Given the description of an element on the screen output the (x, y) to click on. 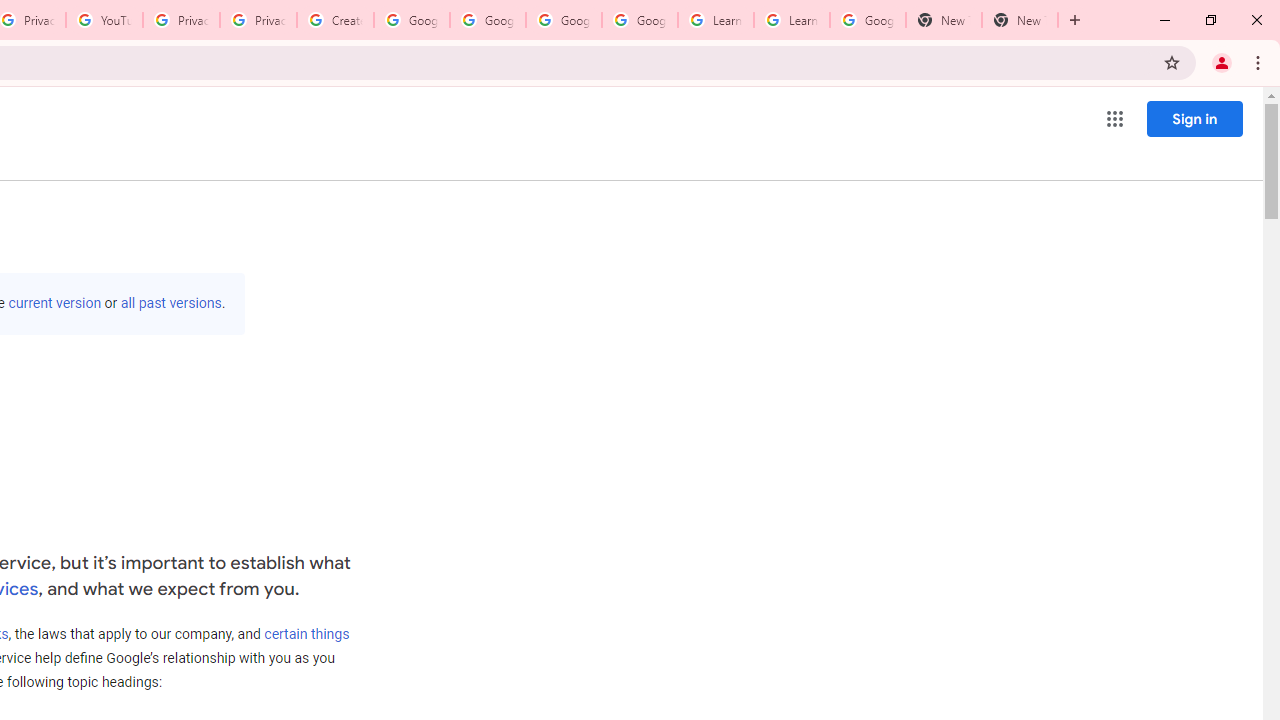
Google Account Help (411, 20)
all past versions (170, 303)
current version (54, 303)
Google Account Help (488, 20)
Google Account (867, 20)
